Given the description of an element on the screen output the (x, y) to click on. 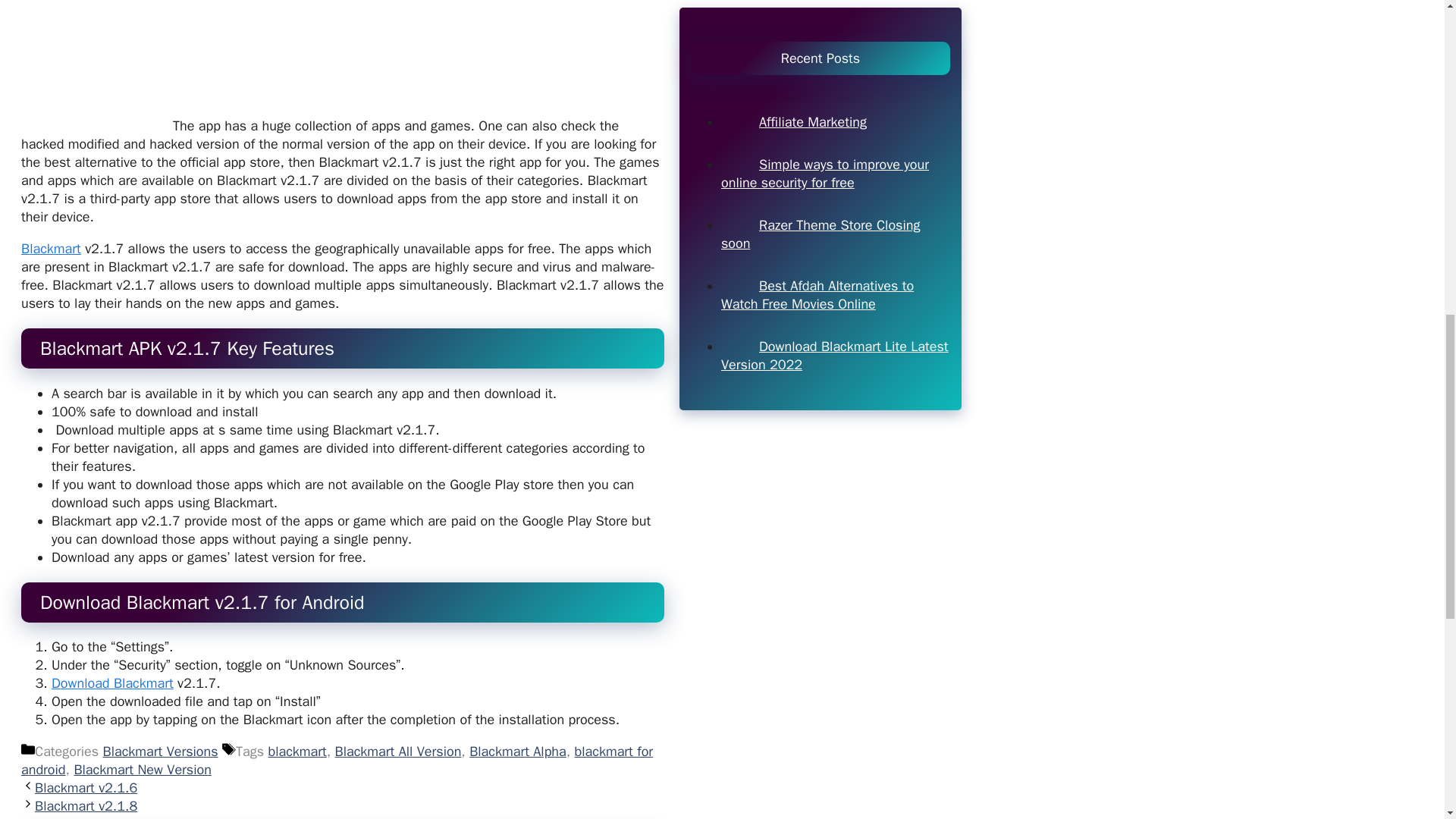
Blackmart v2.1.6 (85, 787)
Download Blackmart Lite Latest Version 2022 (834, 202)
Blackmart (51, 248)
Download Blackmart (111, 682)
Blackmart Alpha (517, 751)
Best Afdah Alternatives to Watch Free Movies Online (817, 142)
blackmart (296, 751)
Blackmart New Version (142, 769)
Blackmart All Version (397, 751)
Blackmart Versions (160, 751)
blackmart for android (336, 760)
Blackmart v2.1.8 (85, 805)
Scroll back to top (1406, 720)
Simple ways to improve your online security for free (824, 21)
Razer Theme Store Closing soon (820, 81)
